Given the description of an element on the screen output the (x, y) to click on. 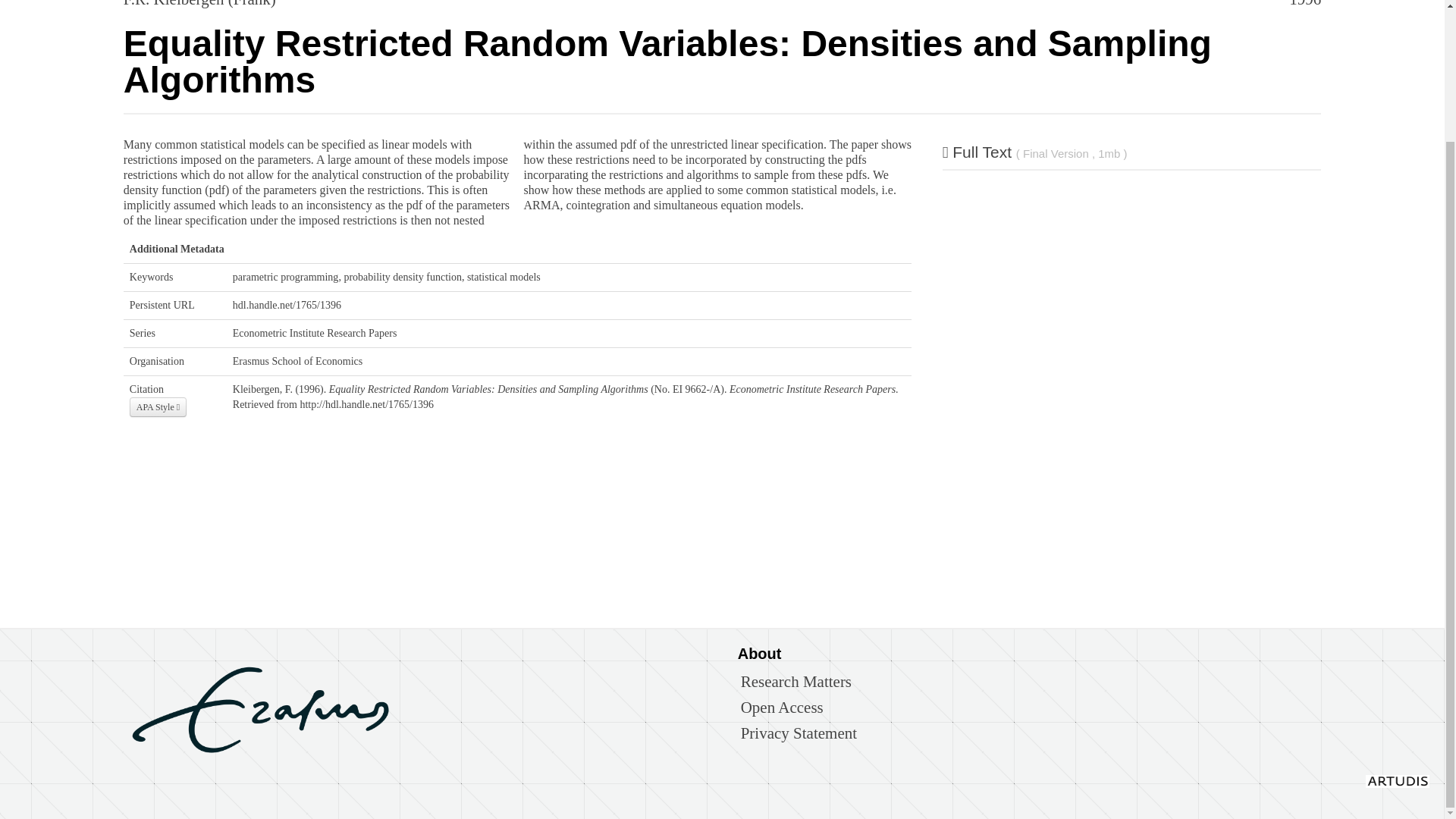
Erasmus School of Economics (297, 360)
APA Style (157, 406)
Econometric Institute Research Papers (314, 333)
